Given the description of an element on the screen output the (x, y) to click on. 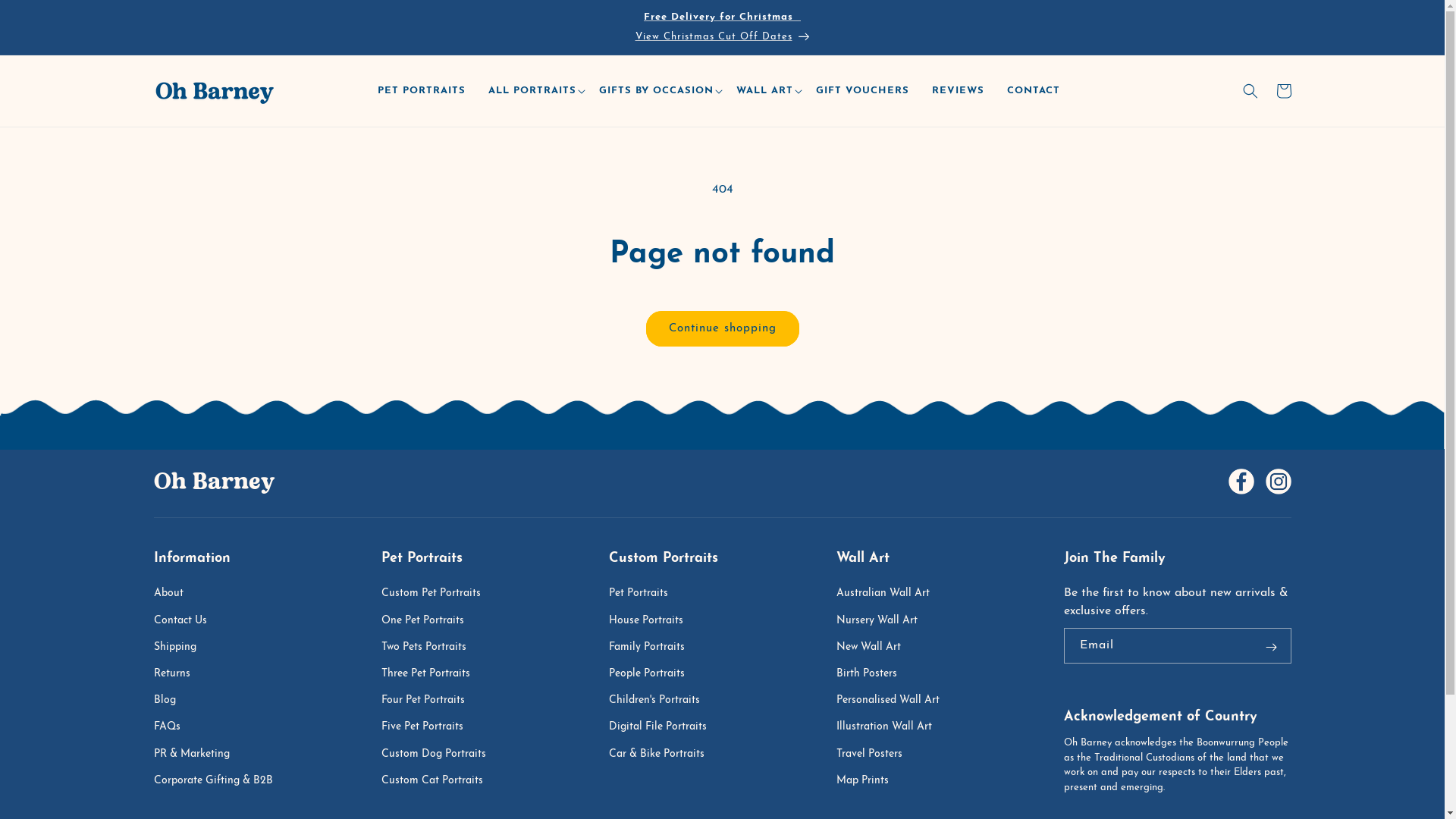
Three Pet Portraits Element type: text (432, 673)
Travel Posters Element type: text (875, 753)
Personalised Wall Art Element type: text (894, 700)
Four Pet Portraits Element type: text (429, 700)
Australian Wall Art Element type: text (889, 594)
Two Pets Portraits Element type: text (430, 646)
Cart Element type: text (1282, 90)
Car & Bike Portraits Element type: text (663, 753)
Custom Cat Portraits Element type: text (438, 780)
People Portraits Element type: text (653, 673)
New Wall Art Element type: text (875, 646)
CONTACT Element type: text (1037, 91)
Contact Us Element type: text (187, 620)
Custom Pet Portraits Element type: text (437, 594)
Returns Element type: text (178, 673)
Children's Portraits Element type: text (661, 700)
REVIEWS Element type: text (960, 91)
FAQs Element type: text (173, 726)
PET PORTRAITS Element type: text (425, 91)
Custom Dog Portraits Element type: text (440, 753)
Nursery Wall Art Element type: text (883, 620)
Pet Portraits Element type: text (645, 594)
House Portraits Element type: text (652, 620)
PR & Marketing Element type: text (198, 753)
One Pet Portraits Element type: text (429, 620)
Shipping Element type: text (181, 646)
Continue shopping Element type: text (722, 328)
Illustration Wall Art Element type: text (890, 726)
Corporate Gifting & B2B Element type: text (220, 780)
Map Prints Element type: text (869, 780)
Five Pet Portraits Element type: text (428, 726)
Birth Posters Element type: text (873, 673)
About Element type: text (175, 594)
Family Portraits Element type: text (653, 646)
Digital File Portraits Element type: text (664, 726)
GIFT VOUCHERS Element type: text (866, 91)
Blog Element type: text (171, 700)
